Given the description of an element on the screen output the (x, y) to click on. 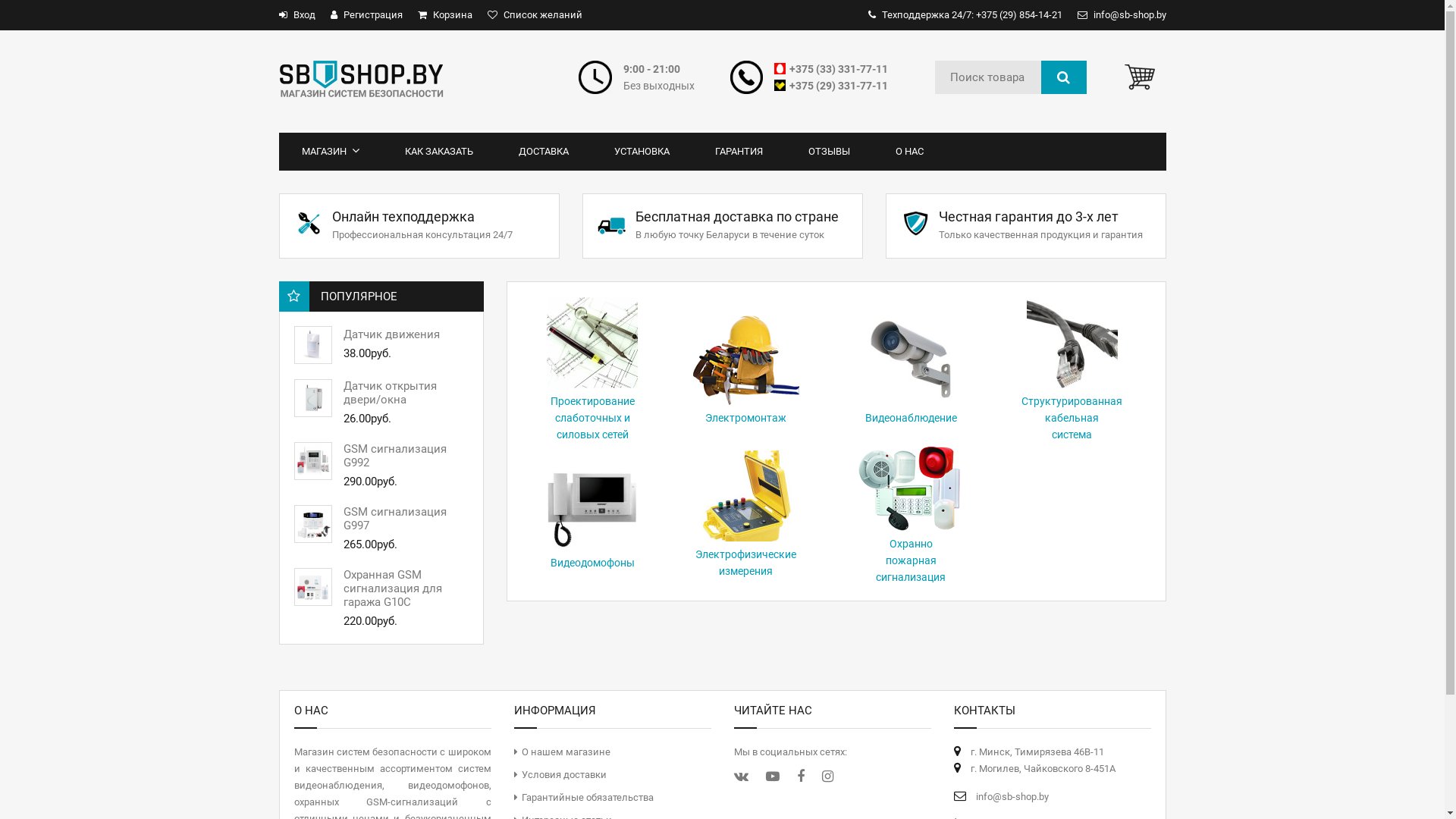
info@sb-shop.by Element type: text (1120, 15)
+375 (33) 331-77-11 Element type: text (838, 68)
+375 (29) 331-77-11 Element type: text (838, 85)
info@sb-shop.by Element type: text (1011, 796)
